Given the description of an element on the screen output the (x, y) to click on. 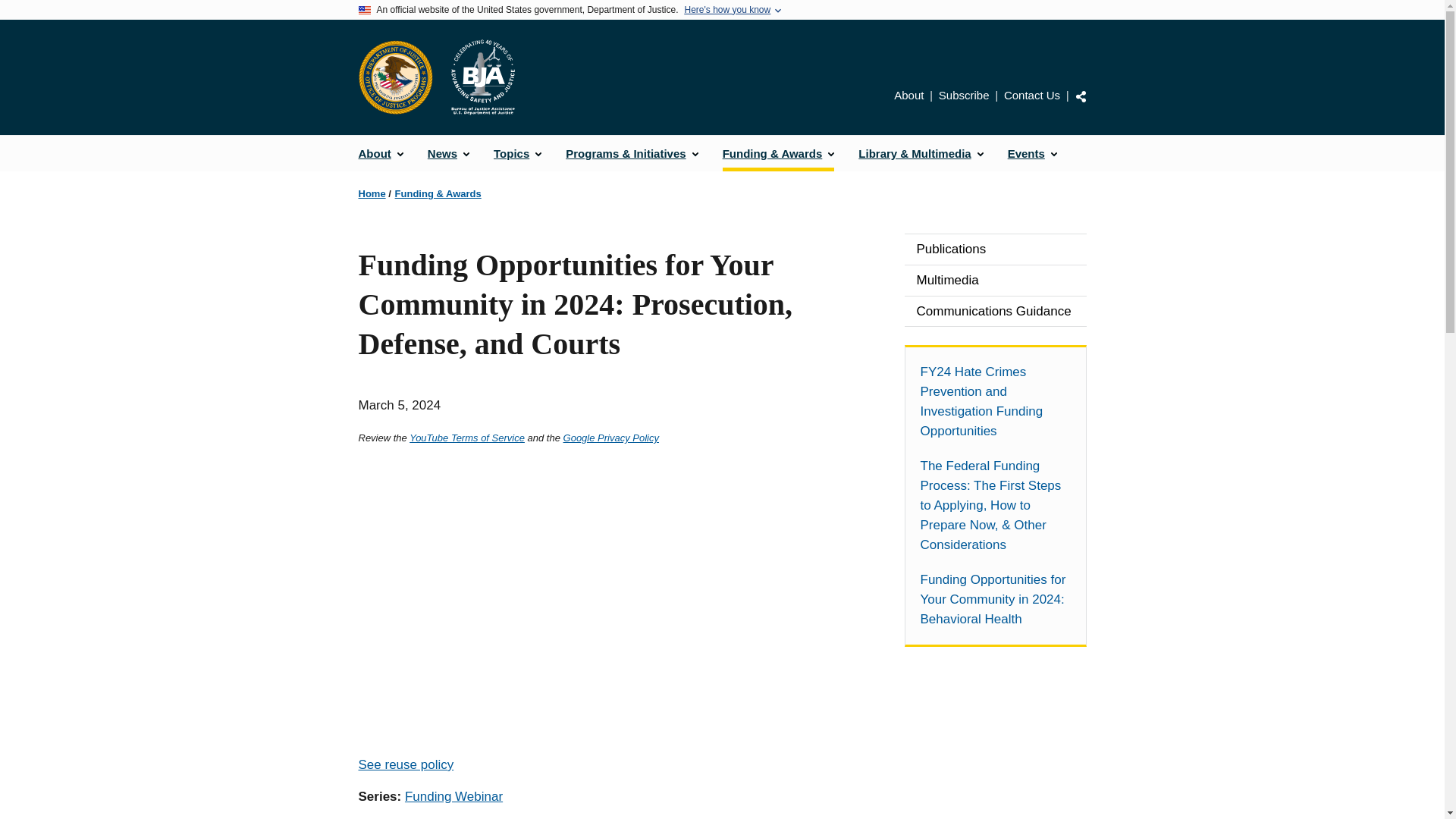
Communications Guidance (995, 311)
Here's how you know (727, 9)
Office of Justice Programs (395, 77)
Events (1031, 153)
About (380, 153)
Contact Us (1031, 94)
YouTube Terms of Service (466, 437)
Multimedia (995, 280)
